Given the description of an element on the screen output the (x, y) to click on. 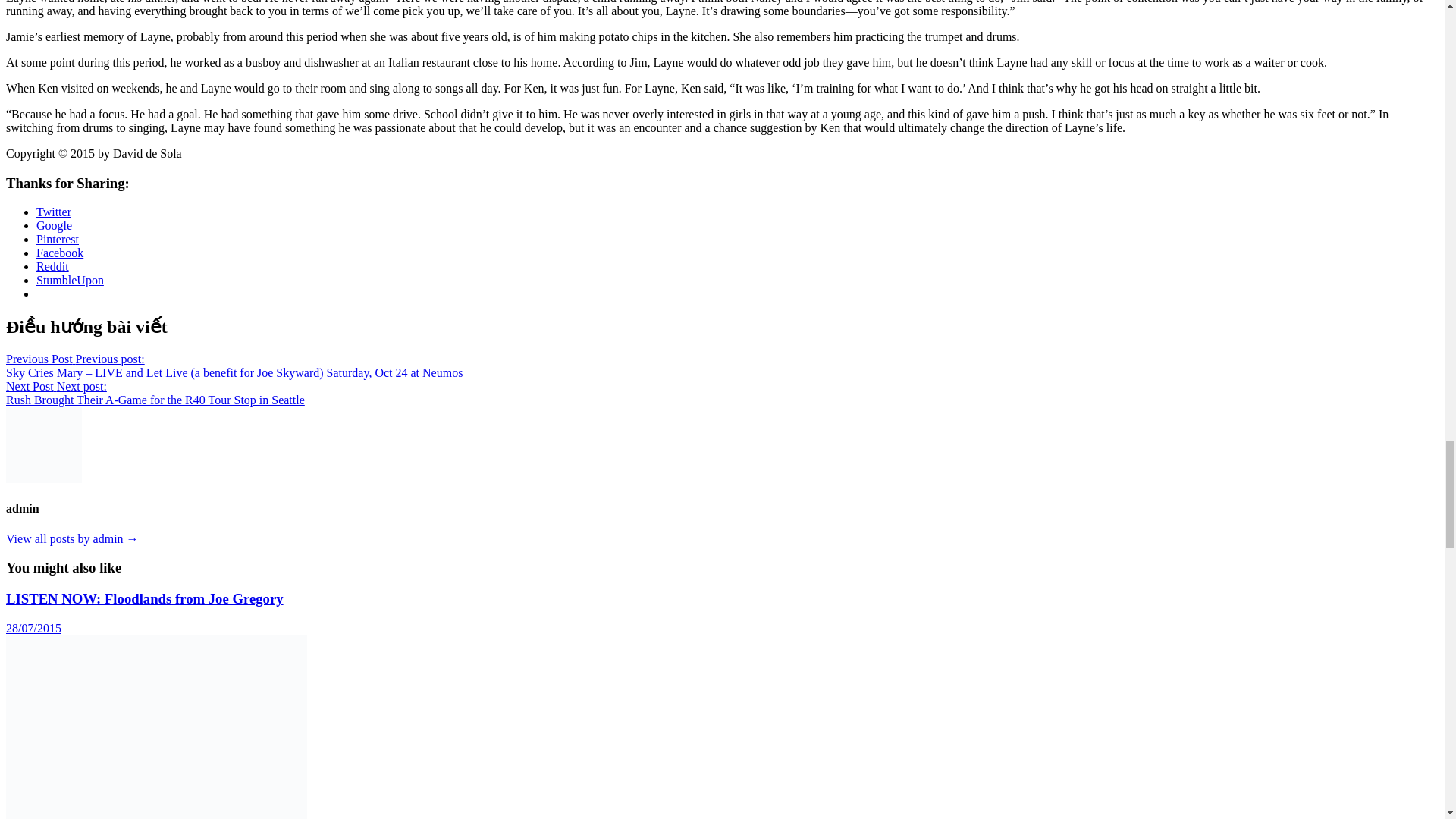
Click to share on StumbleUpon (69, 279)
LISTEN NOW: Floodlands from Joe Gregory (144, 598)
Pinterest (57, 238)
Click to share on Pinterest (57, 238)
Click to share on Twitter (53, 211)
Twitter (53, 211)
Share on Facebook (59, 252)
StumbleUpon (69, 279)
admin (71, 538)
